Given the description of an element on the screen output the (x, y) to click on. 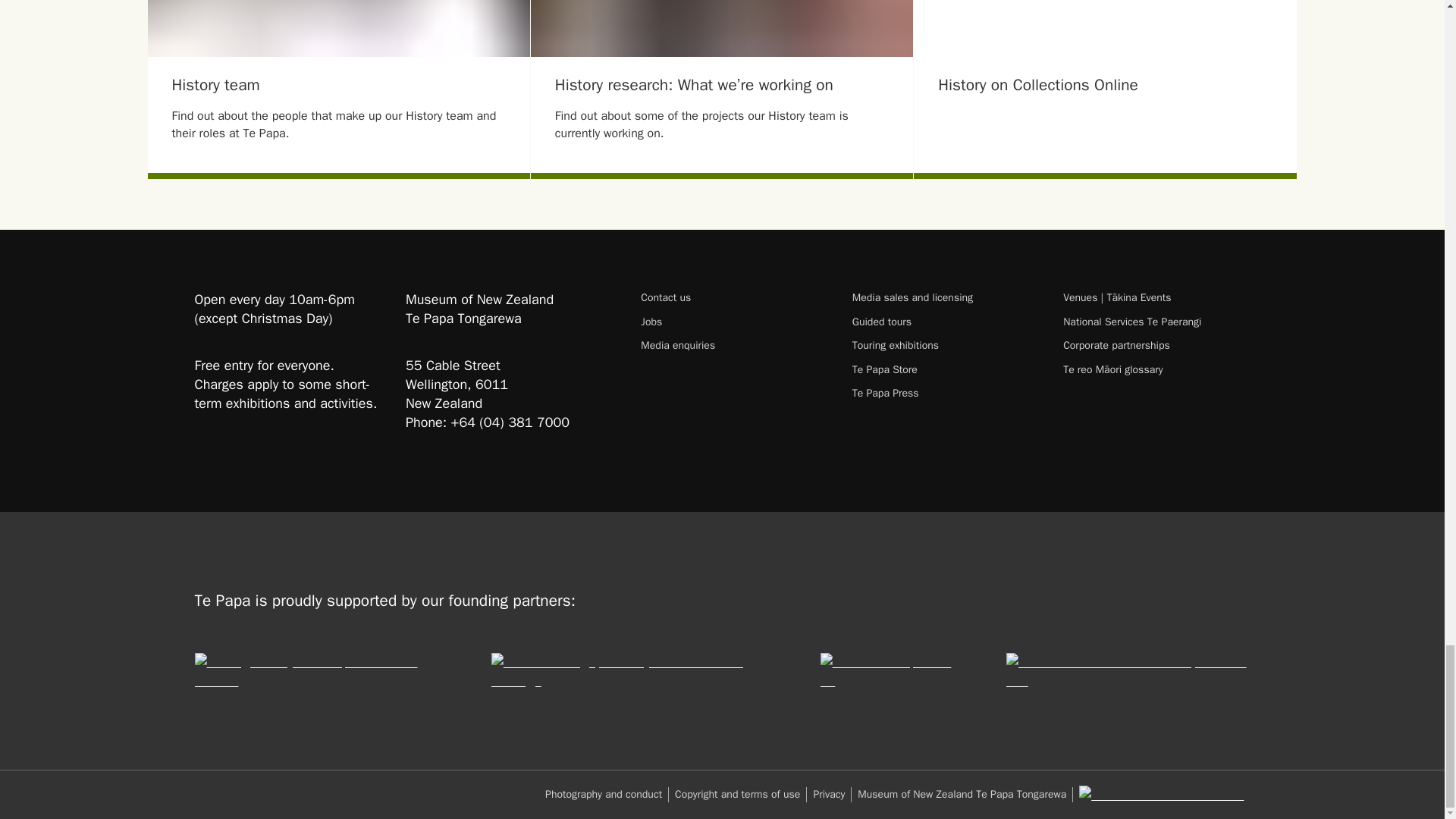
National Services Te Paerangi (1155, 321)
Te Papa Store (945, 369)
New Zealand Government (1160, 794)
Guided tours (945, 321)
Museum of New Zealand Te Papa Tongarewa (965, 794)
Te Papa Press (945, 392)
Copyright and terms of use (740, 794)
Photography and conduct (606, 794)
History on Collections Online (1105, 117)
Privacy (831, 794)
Media enquiries (733, 345)
Media sales and licensing (945, 297)
Touring exhibitions (945, 345)
Jobs (733, 321)
